Given the description of an element on the screen output the (x, y) to click on. 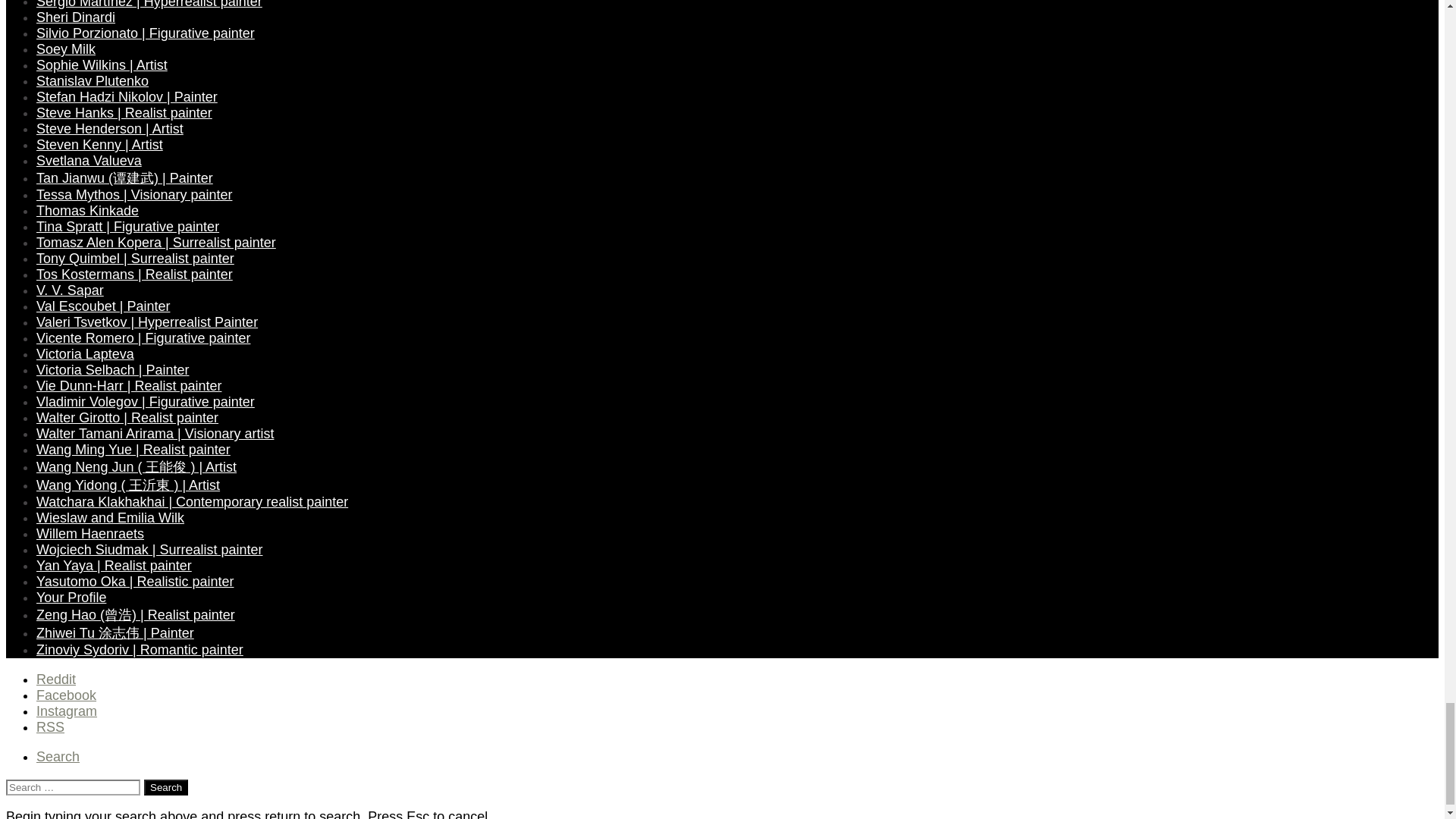
Search (165, 787)
Search (165, 787)
